Given the description of an element on the screen output the (x, y) to click on. 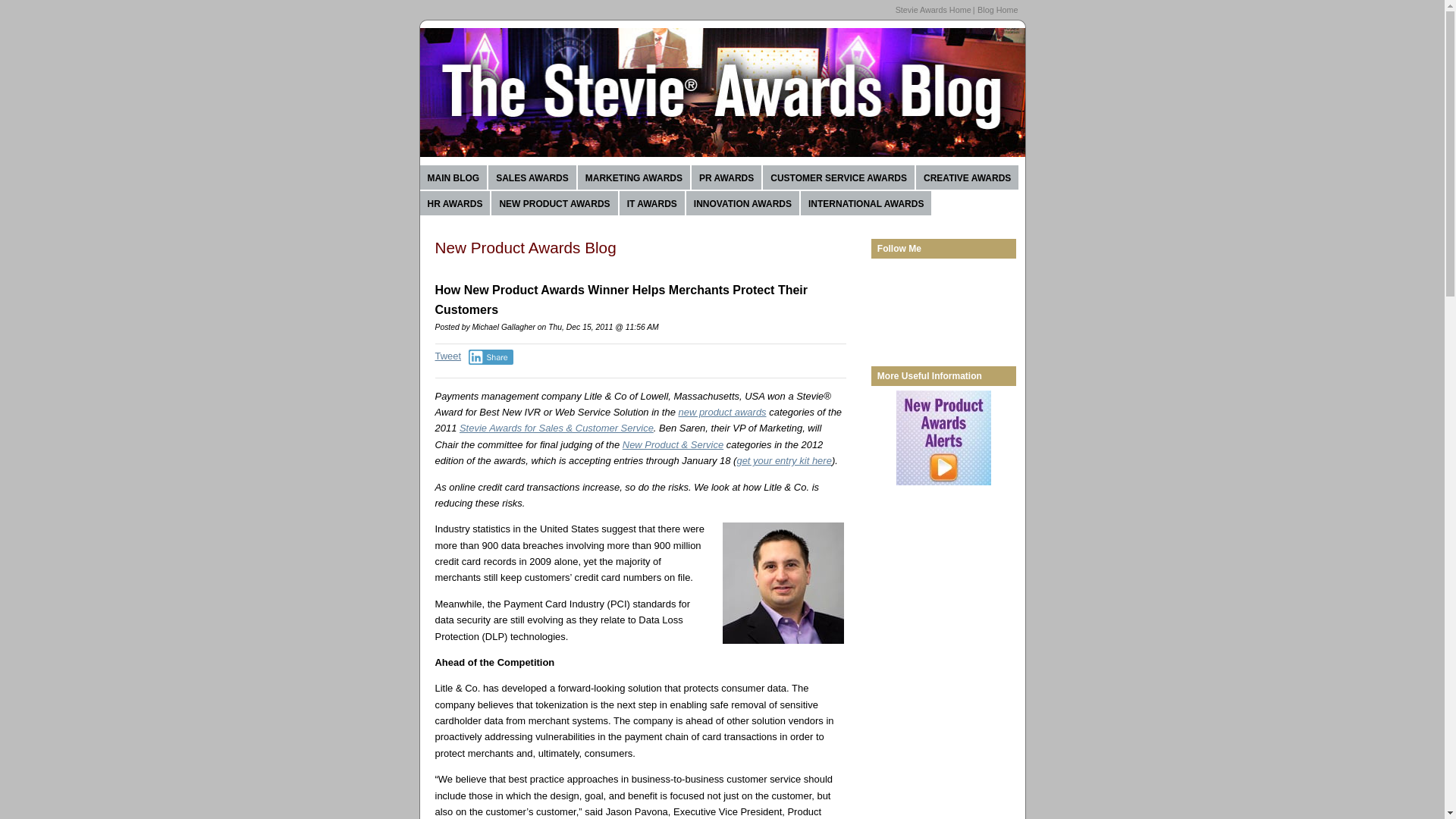
Share (490, 356)
PR AWARDS (726, 177)
NEW PRODUCT AWARDS (554, 202)
Follow us on YouTube (896, 290)
INTERNATIONAL AWARDS (865, 202)
Blog Home (996, 9)
Follow us on Twitter (896, 319)
Follow us on Twitter (969, 290)
new product awards (722, 411)
CUSTOMER SERVICE AWARDS (838, 177)
